Given the description of an element on the screen output the (x, y) to click on. 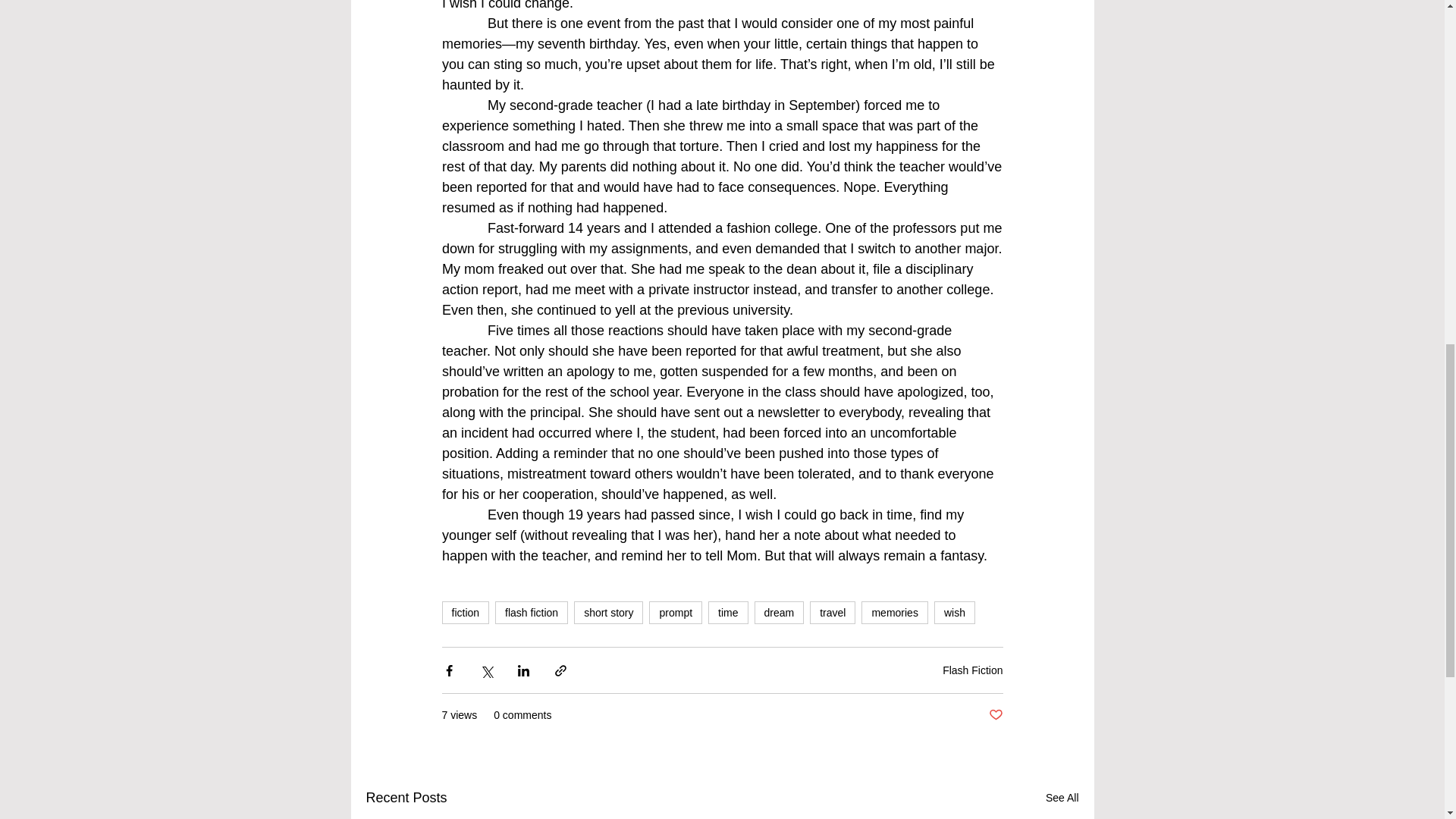
short story (608, 612)
dream (779, 612)
Post not marked as liked (995, 715)
flash fiction (531, 612)
travel (832, 612)
fiction (465, 612)
time (727, 612)
memories (894, 612)
See All (1061, 798)
Flash Fiction (972, 670)
